Given the description of an element on the screen output the (x, y) to click on. 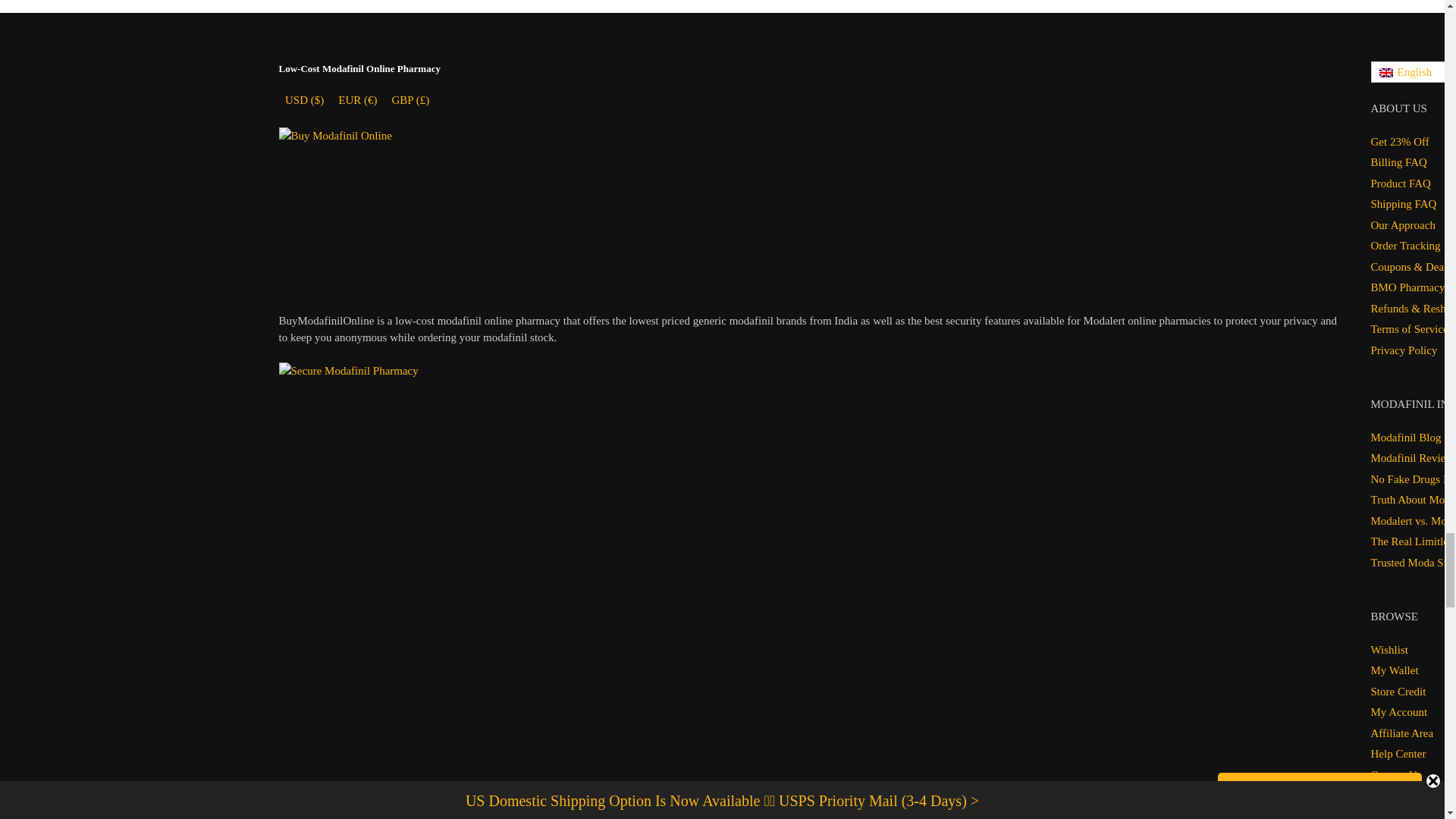
Home Page (354, 211)
